Given the description of an element on the screen output the (x, y) to click on. 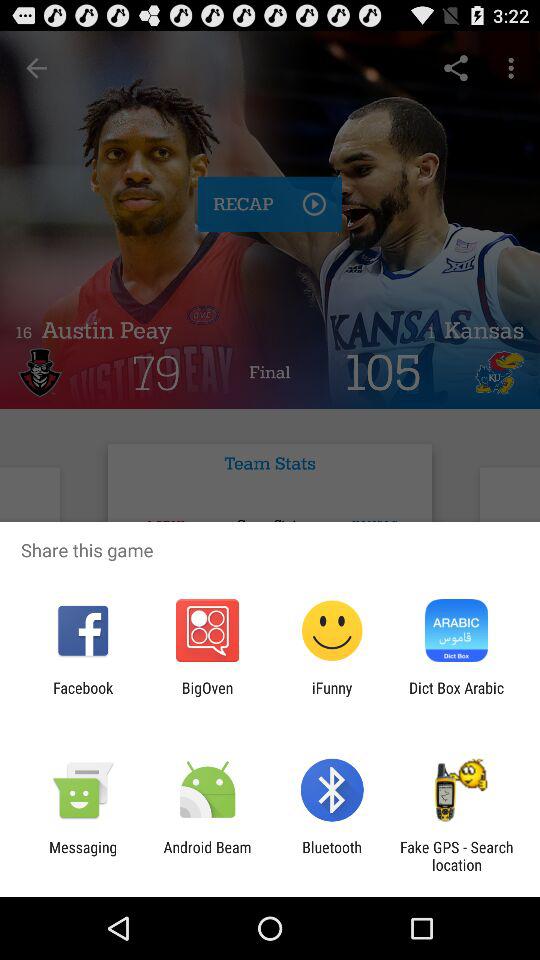
flip until android beam app (207, 856)
